Given the description of an element on the screen output the (x, y) to click on. 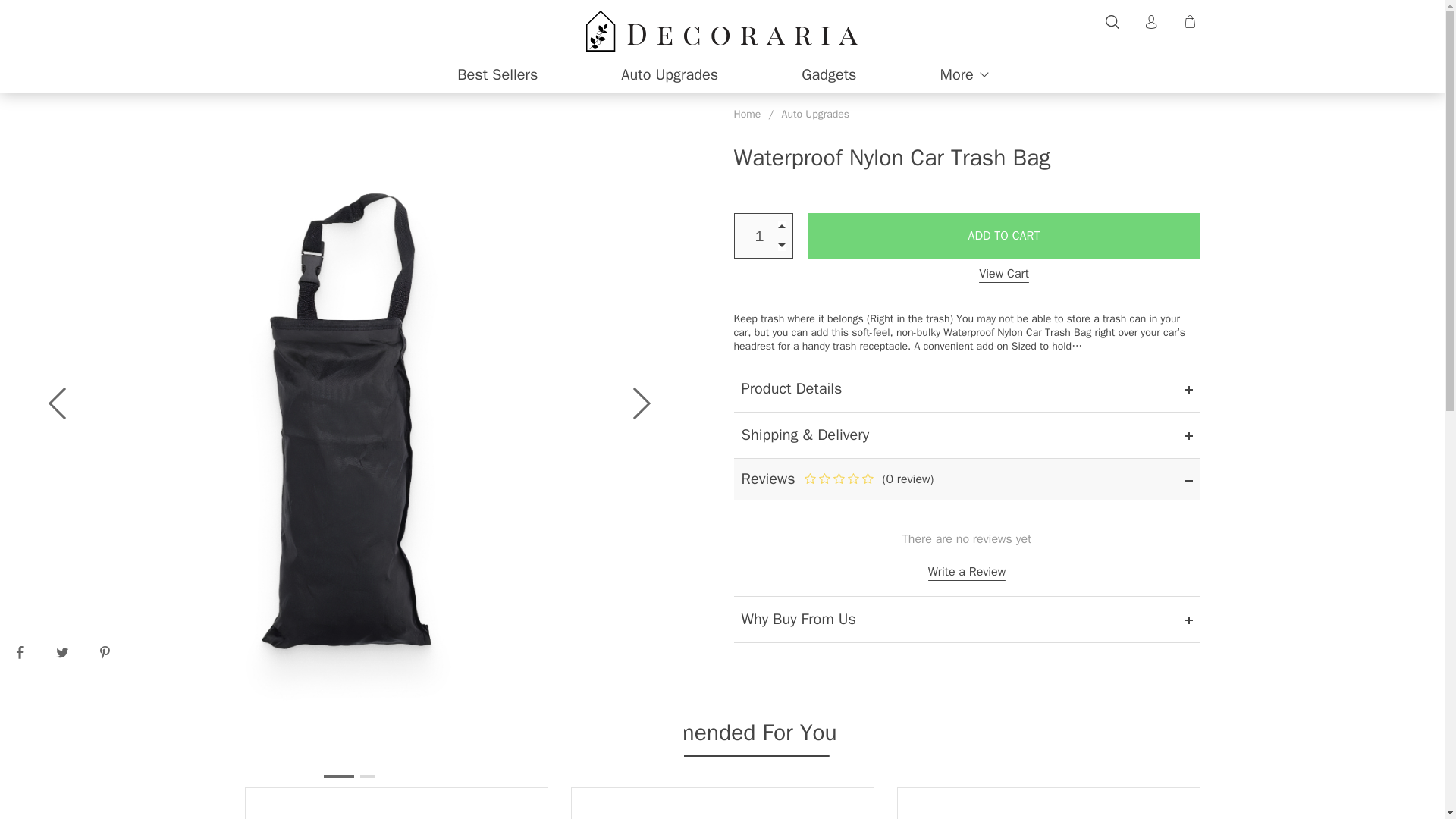
Best Sellers (497, 75)
ADD TO CART (1003, 235)
Home (721, 803)
Gadgets (395, 803)
Auto Upgrades (747, 114)
1 (829, 75)
